Given the description of an element on the screen output the (x, y) to click on. 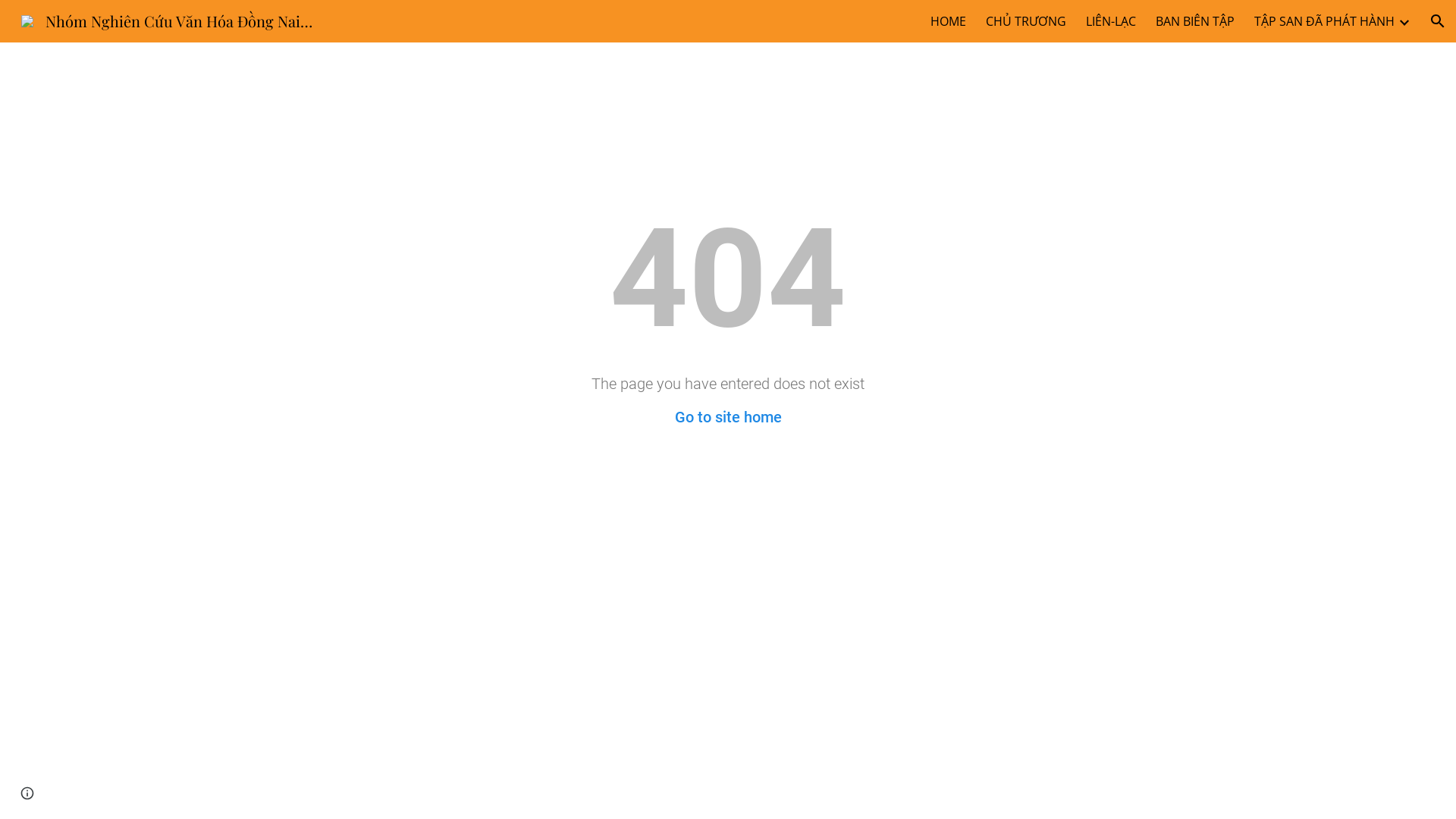
HOME Element type: text (948, 20)
Go to site home Element type: text (727, 416)
Expand/Collapse Element type: hover (1403, 20)
